Given the description of an element on the screen output the (x, y) to click on. 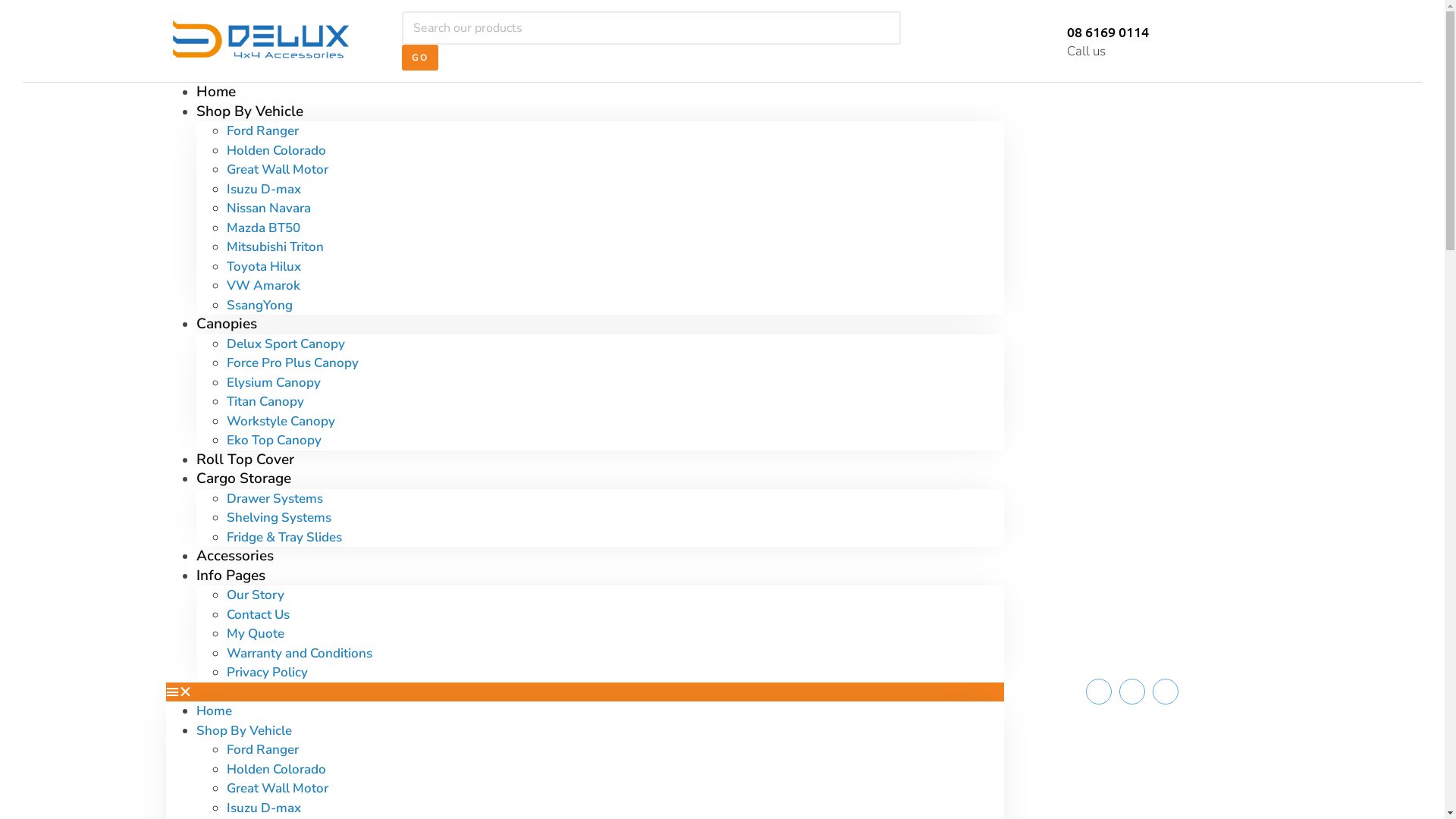
Home Element type: text (215, 91)
Mazda BT50 Element type: text (262, 226)
Force Pro Plus Canopy Element type: text (291, 362)
Privacy Policy Element type: text (266, 671)
Fridge & Tray Slides Element type: text (283, 536)
Shelving Systems Element type: text (277, 517)
Ford Ranger Element type: text (261, 749)
Our Story Element type: text (254, 594)
Contact Us Element type: text (256, 613)
Holden Colorado Element type: text (275, 149)
Delux Sport Canopy Element type: text (284, 343)
Isuzu D-max Element type: text (262, 188)
Elysium Canopy Element type: text (272, 381)
Workstyle Canopy Element type: text (279, 420)
GO Element type: text (420, 57)
Great Wall Motor Element type: text (276, 787)
Ford Ranger Element type: text (261, 130)
Info Pages Element type: text (229, 575)
Shop By Vehicle Element type: text (248, 111)
Eko Top Canopy Element type: text (272, 439)
Holden Colorado Element type: text (275, 768)
Drawer Systems Element type: text (273, 498)
Toyota Hilux Element type: text (262, 266)
Titan Canopy Element type: text (264, 401)
Shop By Vehicle Element type: text (243, 730)
VW Amarok Element type: text (262, 285)
Great Wall Motor Element type: text (276, 169)
My Quote Element type: text (254, 633)
Home Element type: text (213, 710)
Mitsubishi Triton Element type: text (274, 246)
08 6169 0114 Element type: text (1107, 31)
Cargo Storage Element type: text (242, 478)
Roll Top Cover Element type: text (244, 458)
Accessories Element type: text (234, 555)
Canopies Element type: text (225, 323)
Warranty and Conditions Element type: text (298, 652)
SsangYong Element type: text (258, 304)
Nissan Navara Element type: text (267, 207)
